Given the description of an element on the screen output the (x, y) to click on. 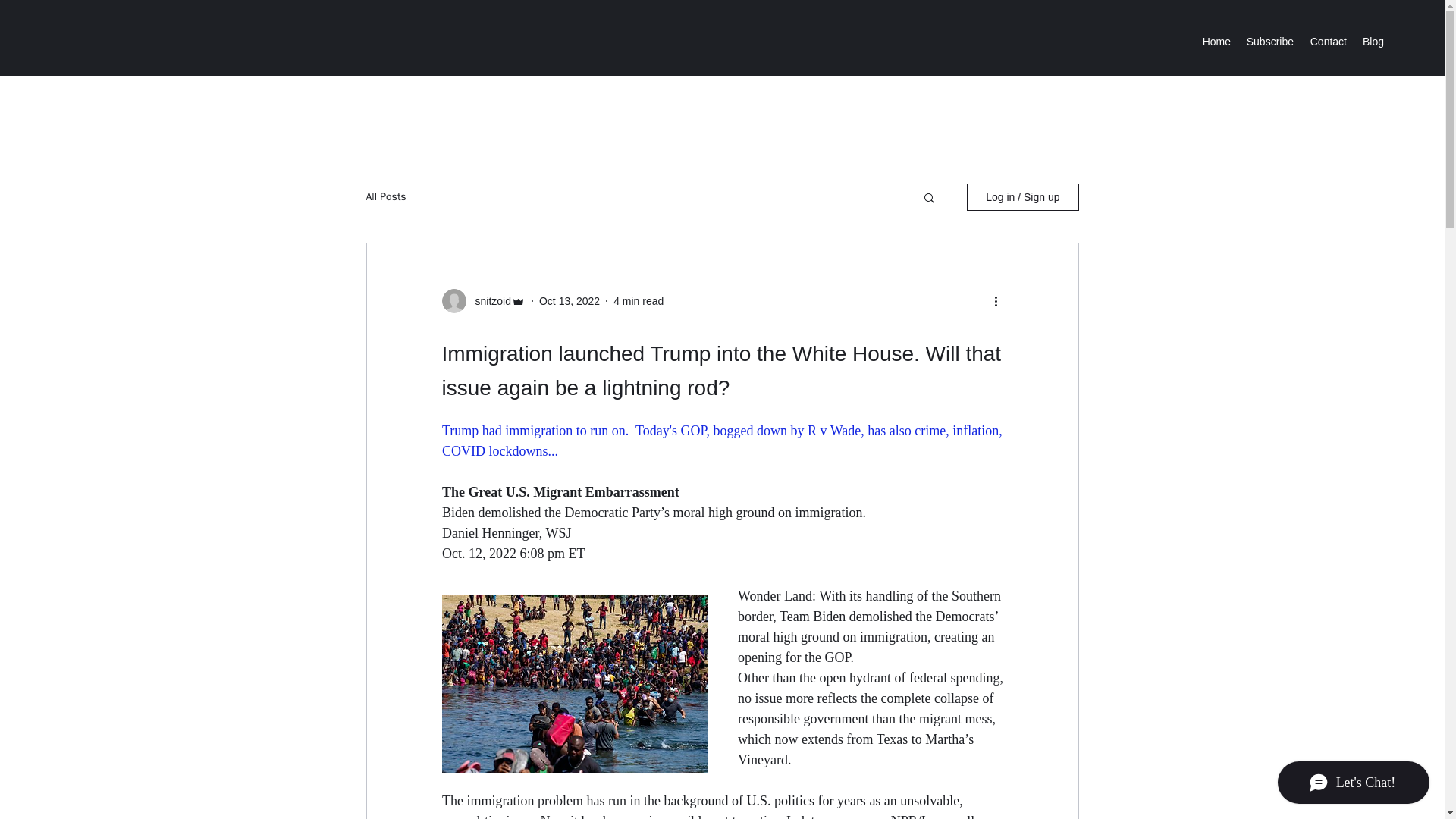
4 min read (637, 300)
Blog (1372, 41)
Contact (1327, 41)
All Posts (385, 196)
Oct 13, 2022 (568, 300)
snitzoid (488, 300)
Subscribe (1270, 41)
Home (1216, 41)
